Given the description of an element on the screen output the (x, y) to click on. 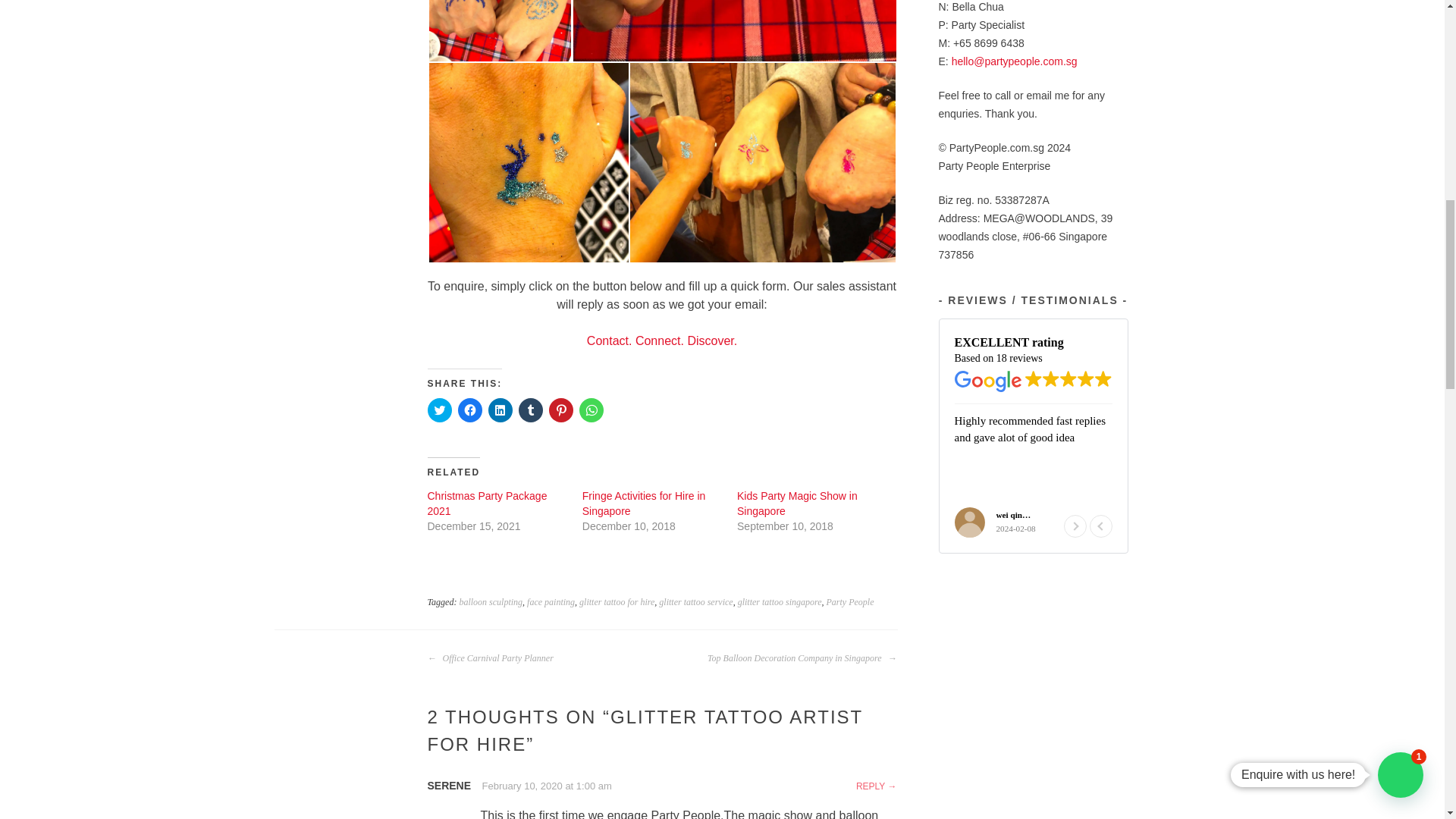
Click to share on LinkedIn (499, 410)
Click to share on Facebook (469, 410)
Glitter Tattoo service (528, 162)
Click to share on Tumblr (530, 410)
Click to share on WhatsApp (591, 410)
Glitter Tattoo for Kids (734, 30)
Click to share on Pinterest (560, 410)
Glitter Tattoo Artist for Hire (499, 31)
Click to share on Twitter (439, 410)
Glitter Tattoo Singapore (761, 162)
Christmas Party Package 2021 (487, 502)
